Given the description of an element on the screen output the (x, y) to click on. 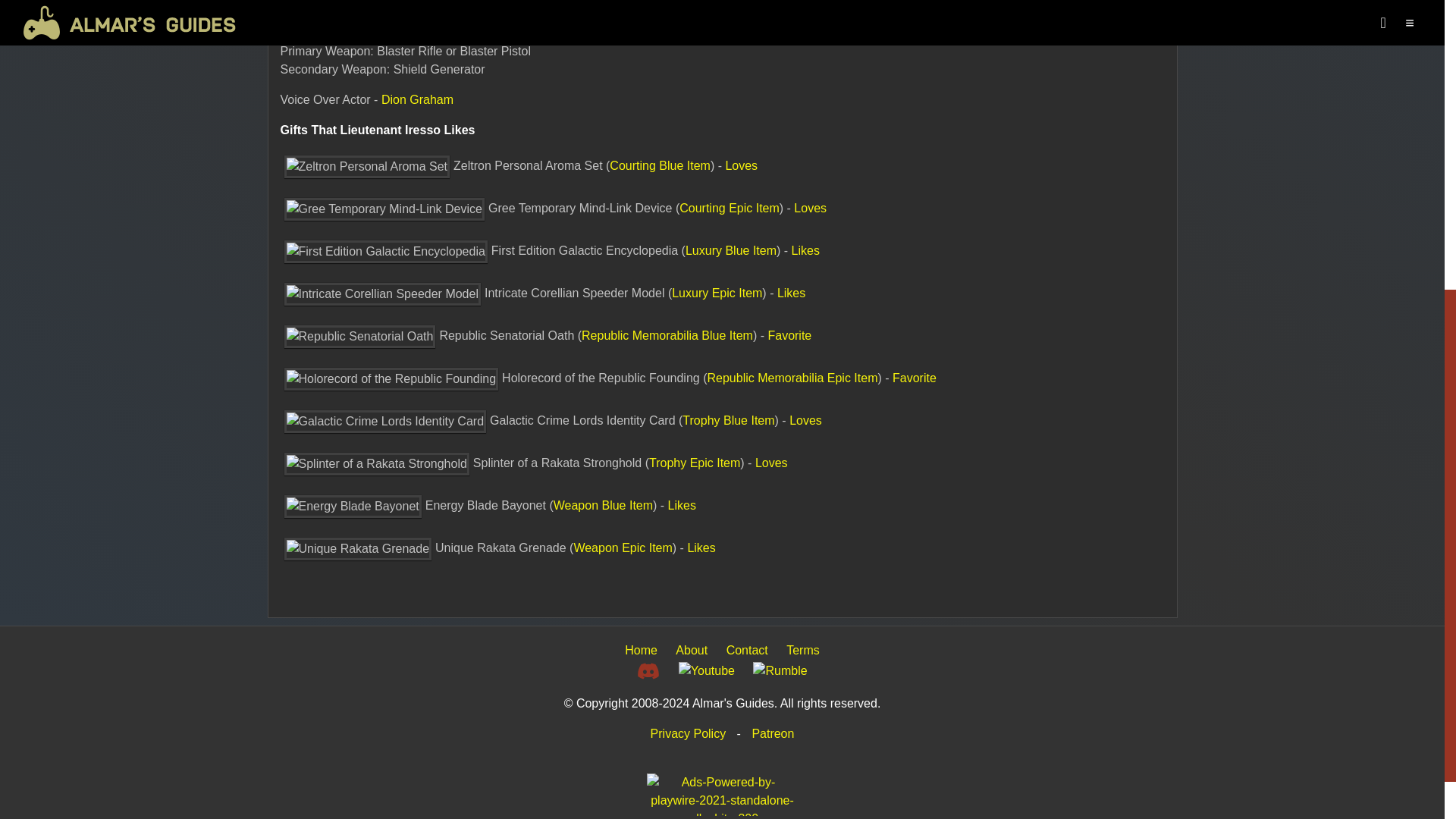
Weapon Blue Item (602, 504)
Loves (810, 207)
About (691, 649)
Courting Blue Item (660, 164)
Dion Graham (416, 99)
Luxury Blue Item (730, 250)
Terms (802, 649)
Likes (681, 504)
Youtube (706, 670)
Republic Memorabilia Blue Item (666, 335)
